Given the description of an element on the screen output the (x, y) to click on. 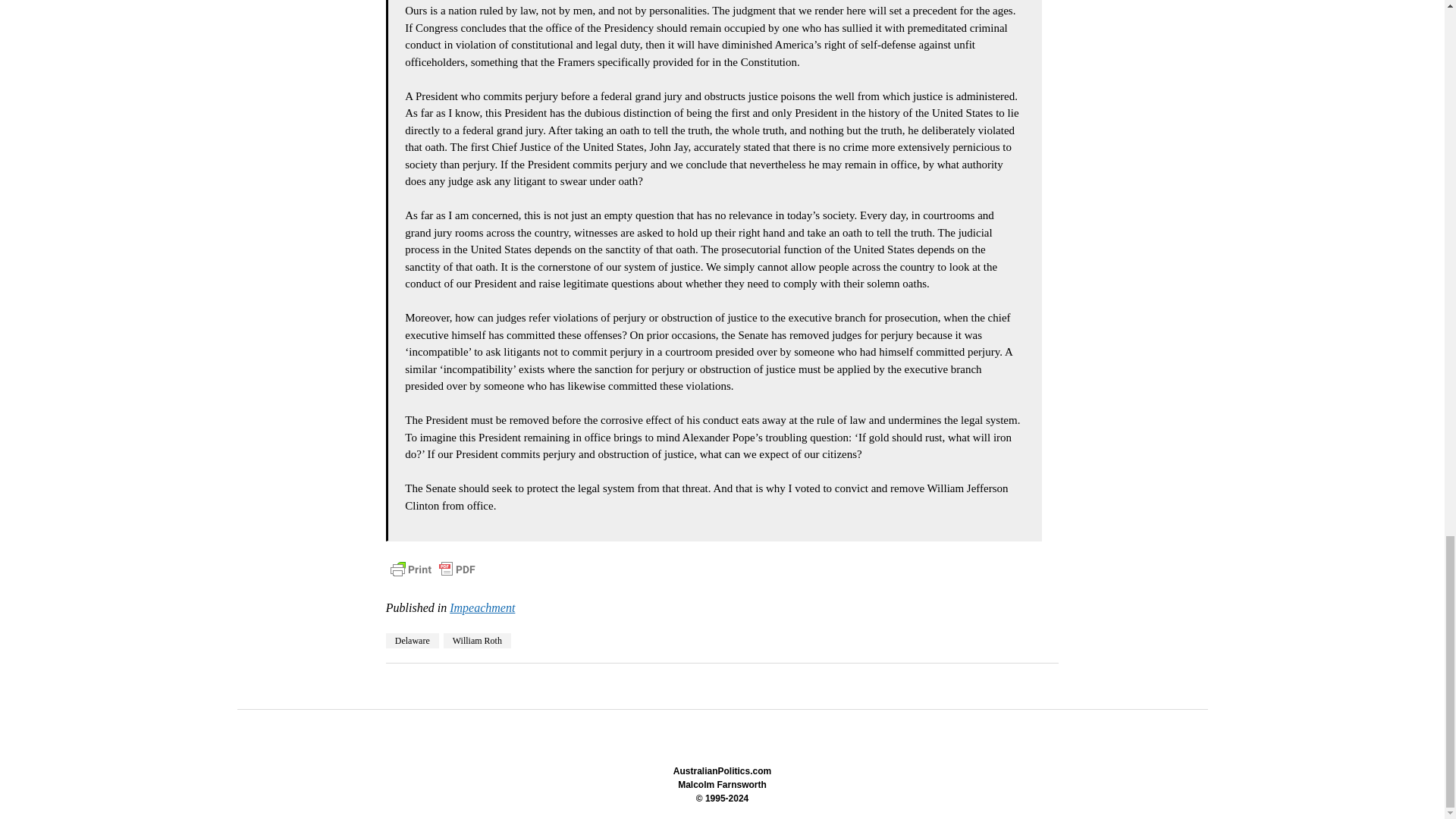
View all posts tagged Delaware (412, 640)
View all posts tagged William Roth (477, 640)
View all posts in Impeachment (482, 607)
